Given the description of an element on the screen output the (x, y) to click on. 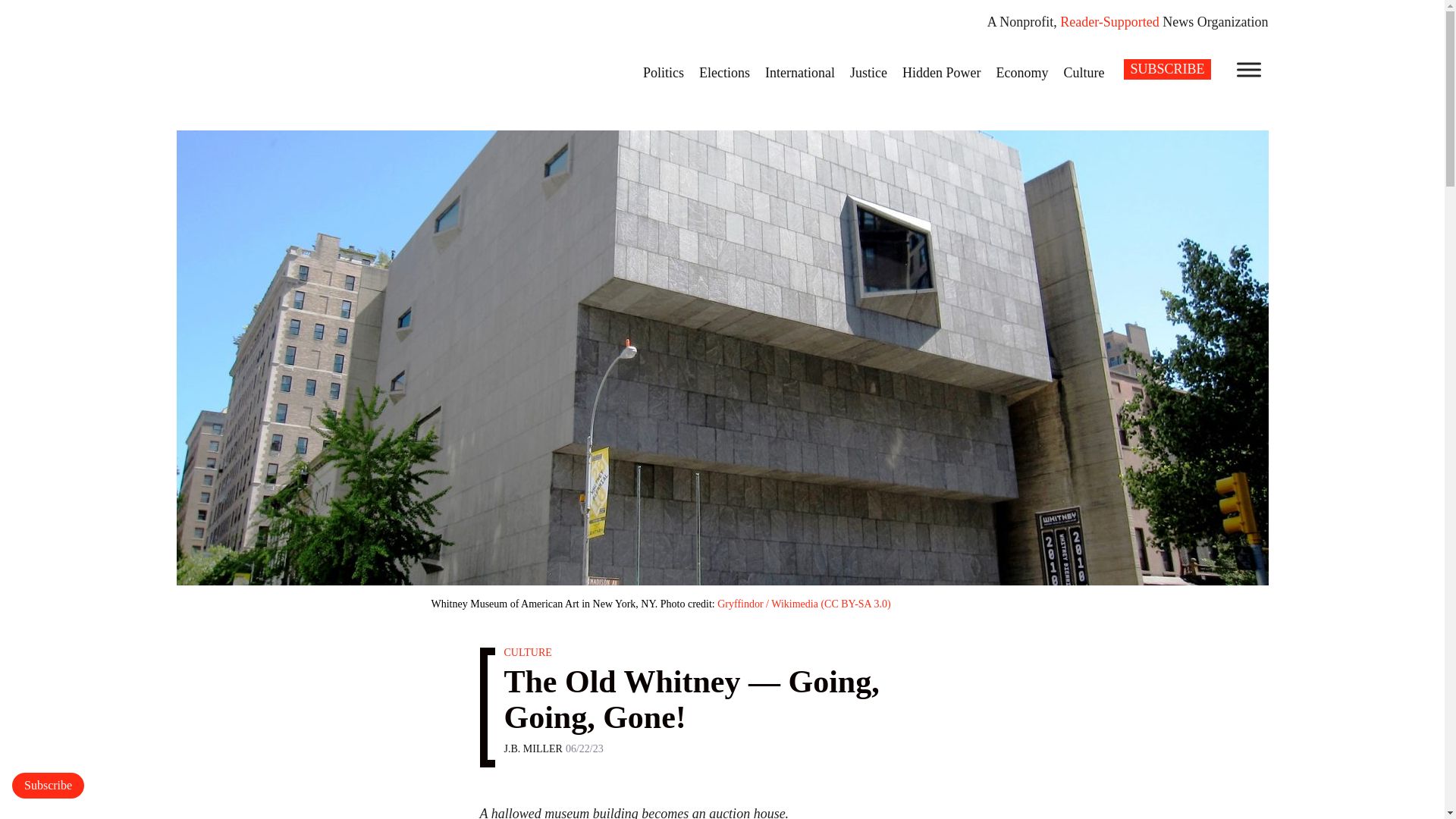
Justice (869, 72)
International (800, 72)
Search (21, 7)
Economy (1021, 72)
Donate (47, 785)
Posts by J.B. Miller (532, 748)
Hidden Power (941, 72)
Politics (662, 72)
Elections (724, 72)
Culture (1083, 72)
Reader-Supported (1108, 21)
SUBSCRIBE (1166, 68)
Subscribe (47, 785)
